Given the description of an element on the screen output the (x, y) to click on. 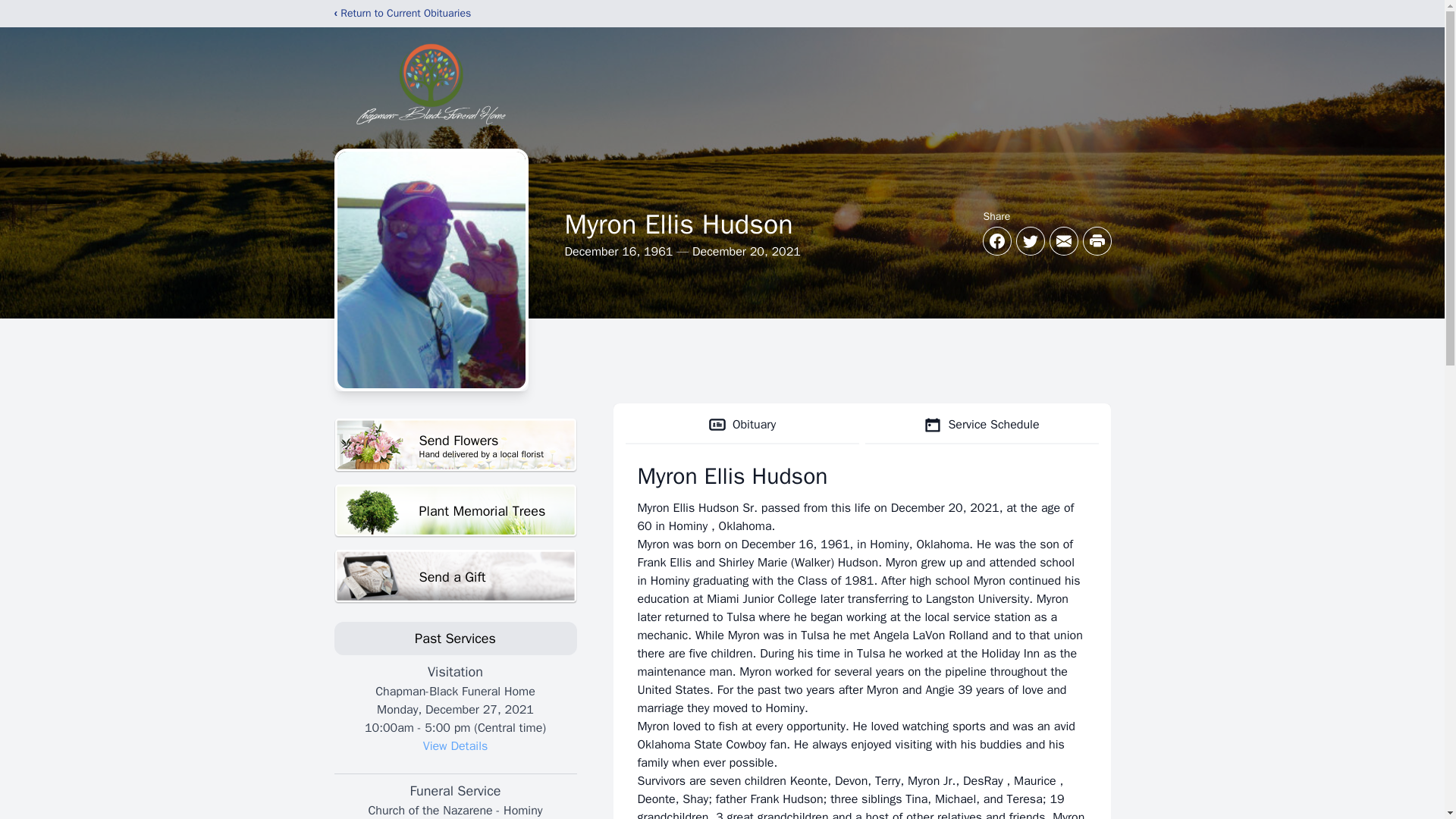
Obituary (741, 425)
Send a Gift (454, 445)
Plant Memorial Trees (454, 576)
Service Schedule (454, 511)
View Details (980, 425)
